Given the description of an element on the screen output the (x, y) to click on. 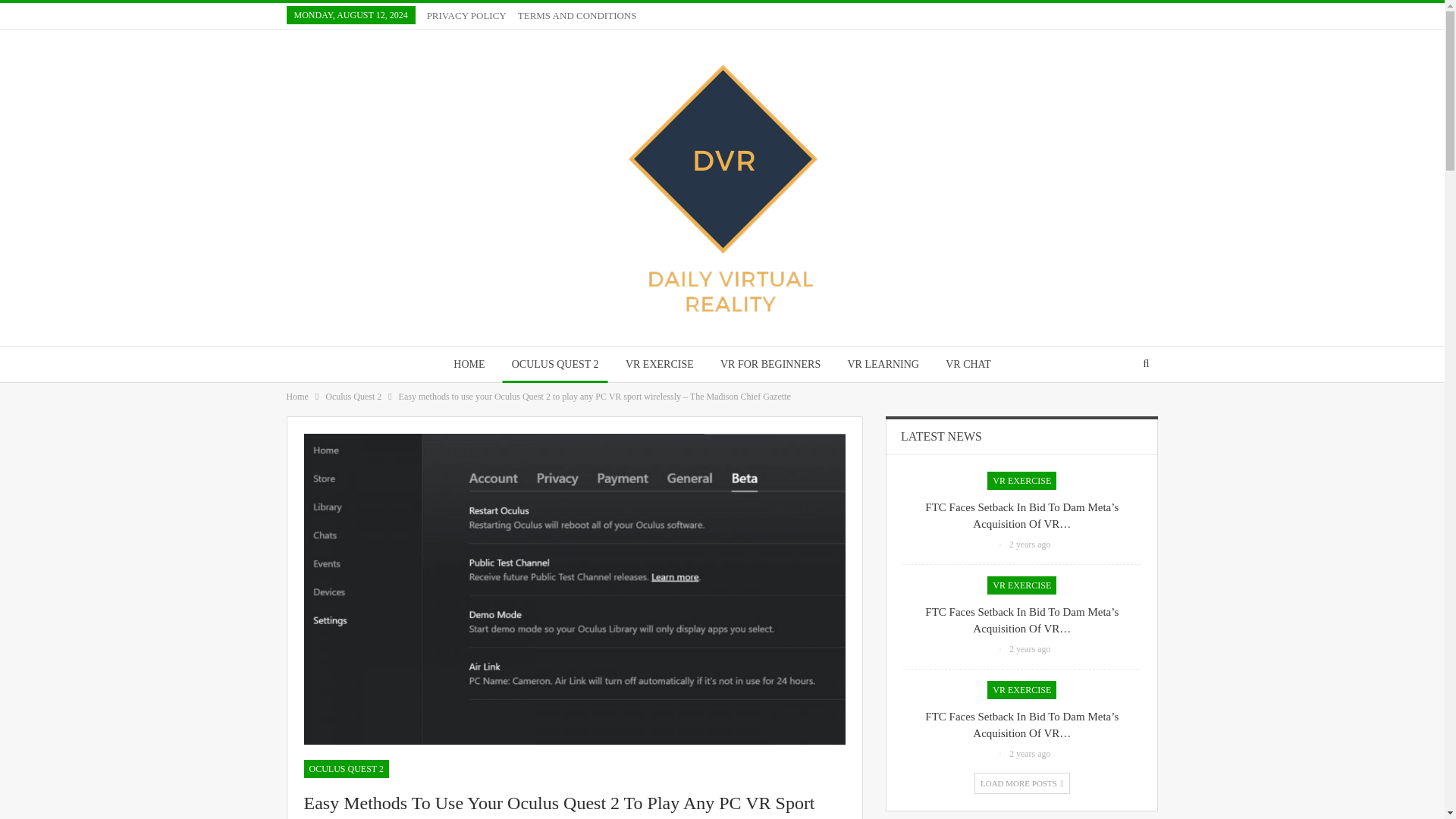
Oculus Quest 2 (352, 396)
Browse Author Articles (1000, 648)
VR CHAT (968, 364)
TERMS AND CONDITIONS (577, 15)
Load More Posts (1022, 783)
OCULUS QUEST 2 (555, 364)
Home (297, 396)
HOME (468, 364)
VR EXERCISE (659, 364)
VR LEARNING (883, 364)
